Given the description of an element on the screen output the (x, y) to click on. 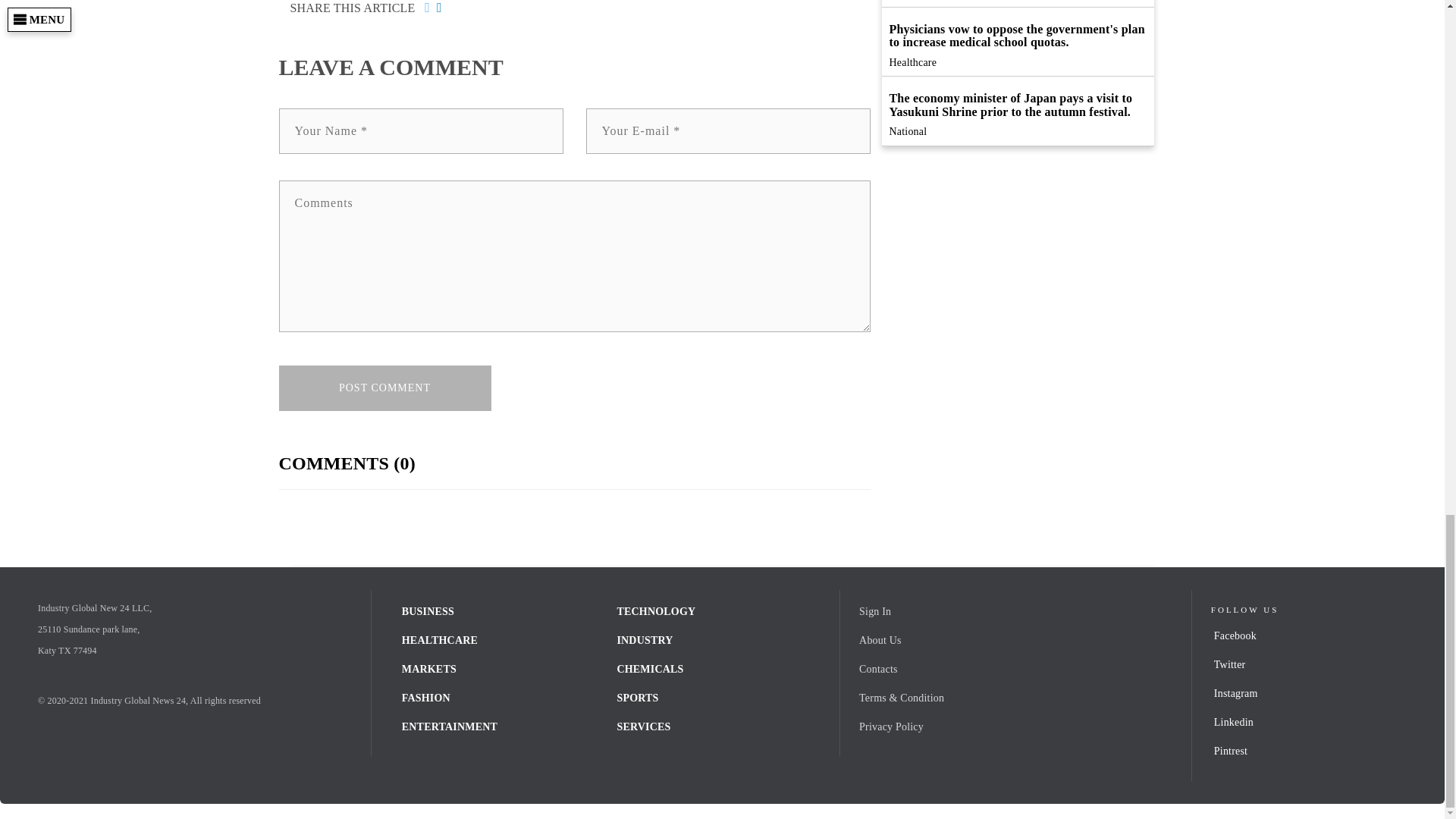
Post Comment (385, 388)
